Given the description of an element on the screen output the (x, y) to click on. 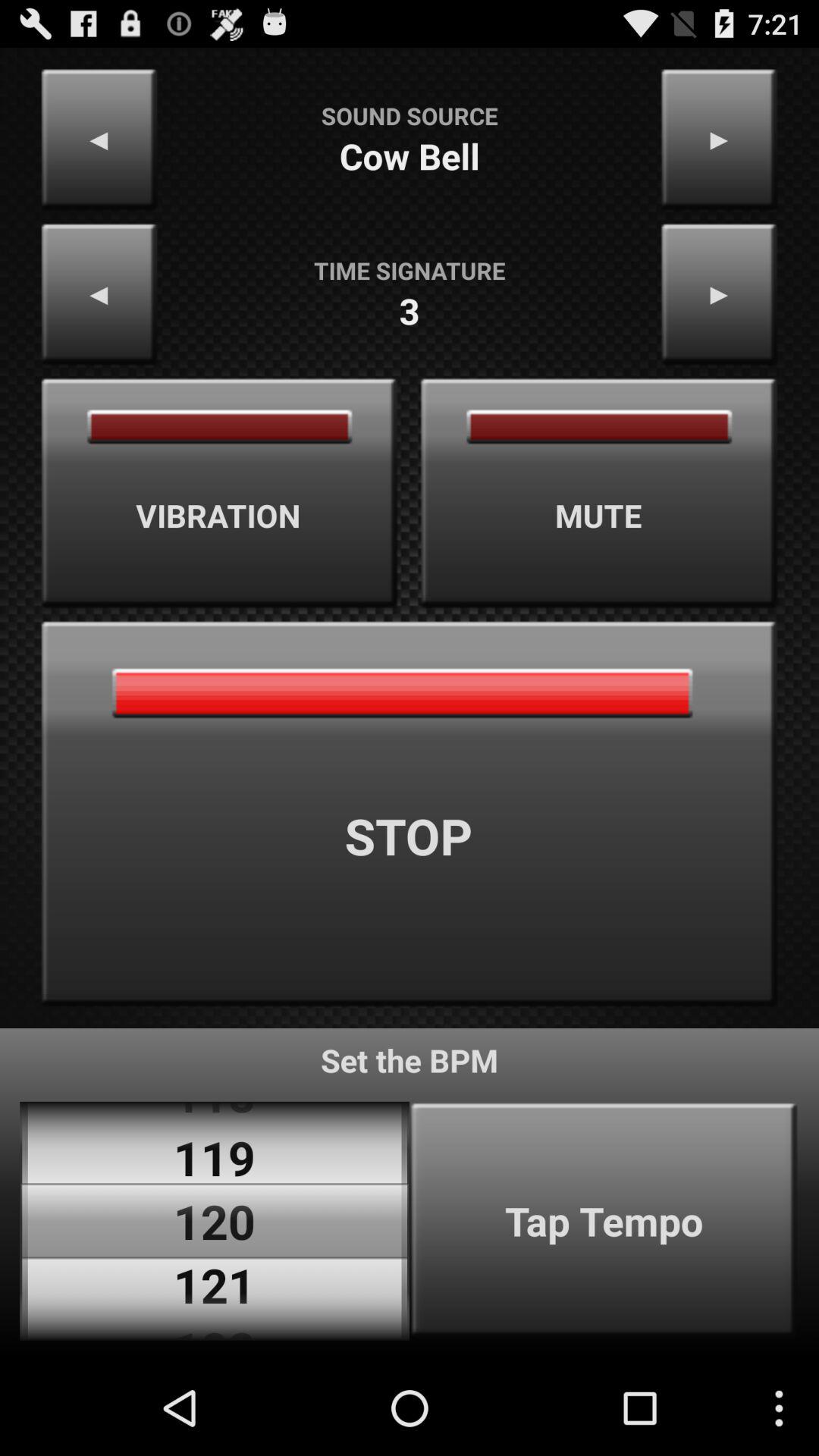
tap icon above stop (599, 493)
